Given the description of an element on the screen output the (x, y) to click on. 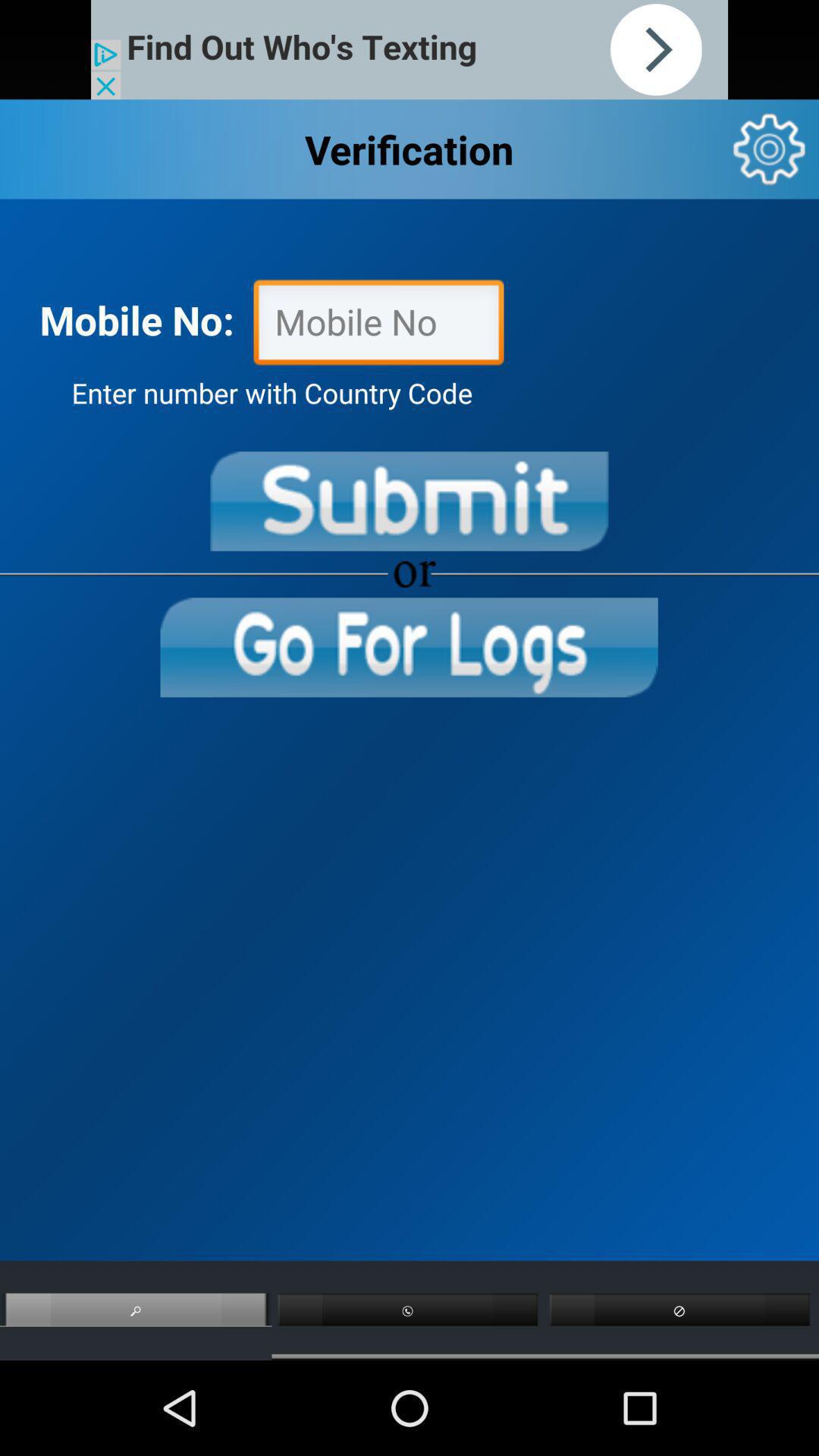
go for logs button (409, 647)
